Given the description of an element on the screen output the (x, y) to click on. 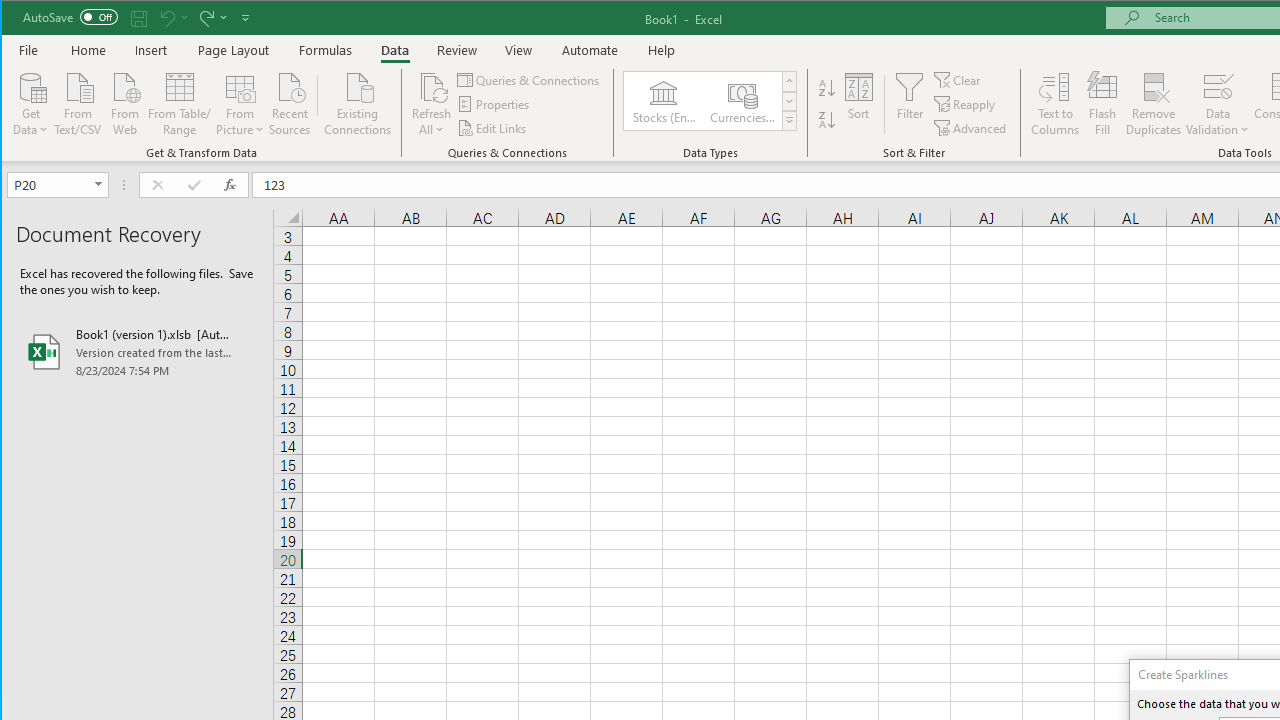
Refresh All (431, 86)
From Web (124, 101)
Clear (958, 80)
Recent Sources (290, 101)
Book1 (version 1).xlsb  [AutoRecovered] (137, 352)
Existing Connections (358, 101)
Data Validation... (1217, 104)
Automate (589, 50)
